Given the description of an element on the screen output the (x, y) to click on. 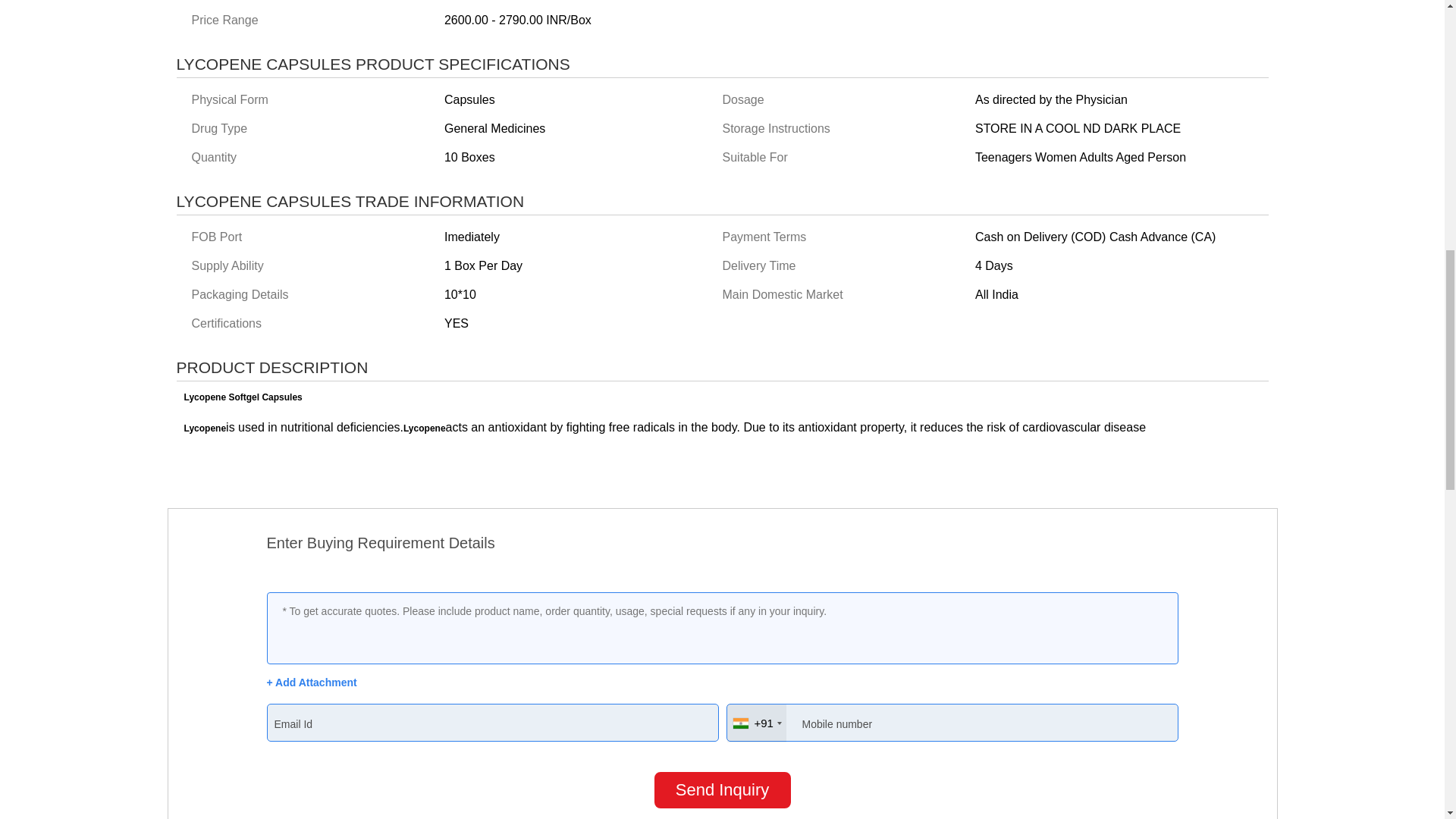
Send Inquiry (721, 790)
